Given the description of an element on the screen output the (x, y) to click on. 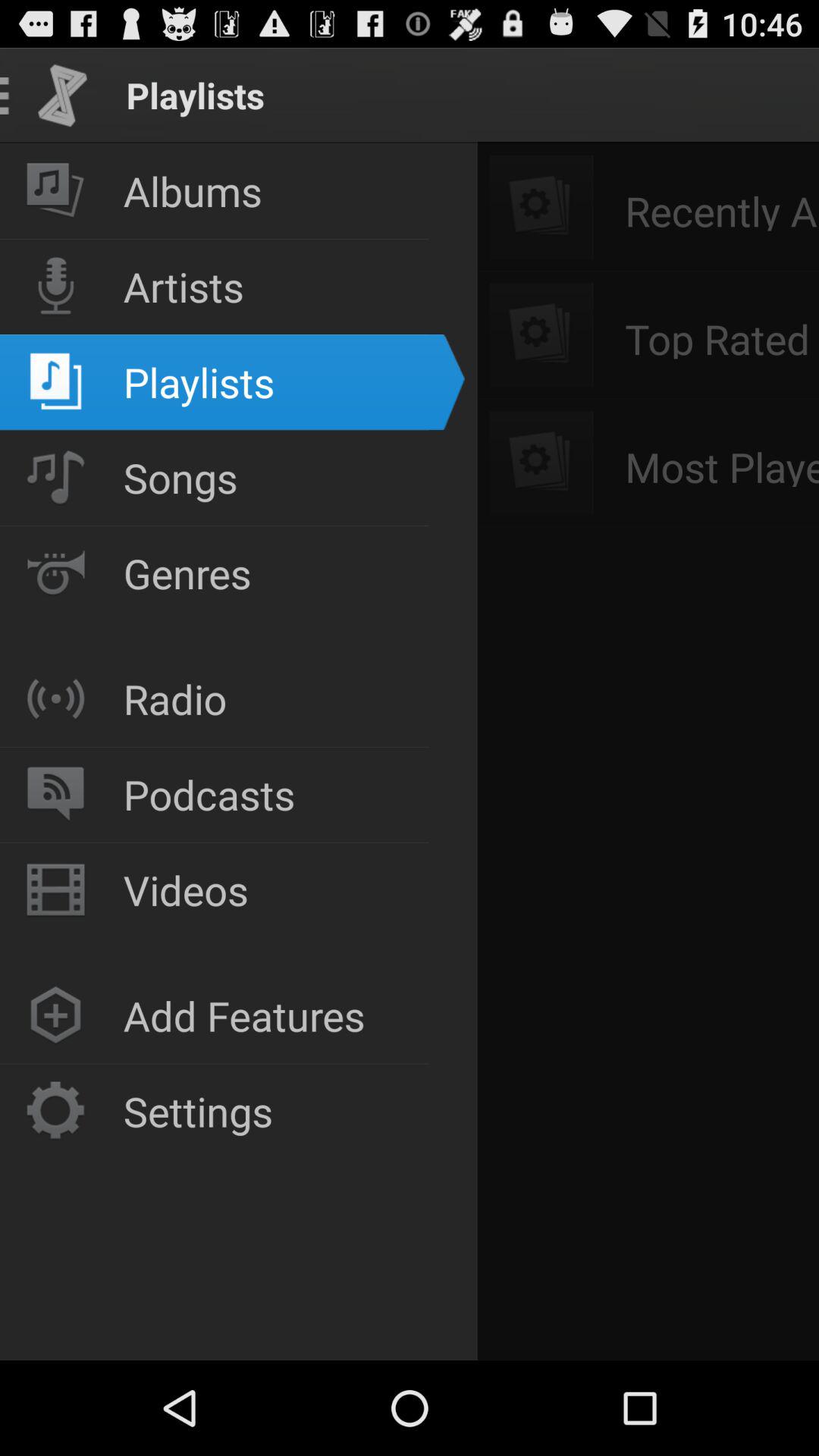
select the symbol which is to the immediate left of the playlists (56, 381)
click the podcast button (56, 794)
click the  playlists button (214, 747)
click on the image icon to the left of the text genres (56, 573)
